Given the description of an element on the screen output the (x, y) to click on. 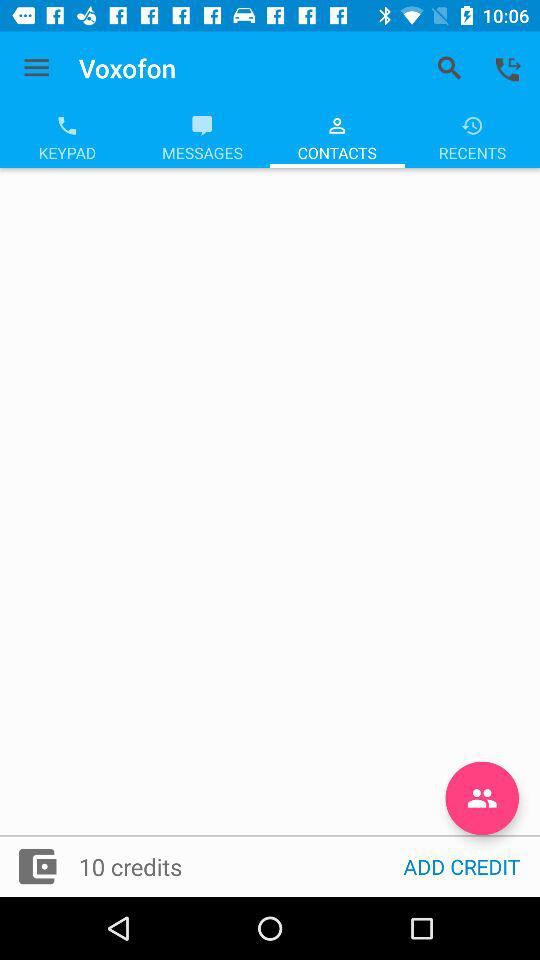
launch the app next to voxofon app (36, 68)
